Given the description of an element on the screen output the (x, y) to click on. 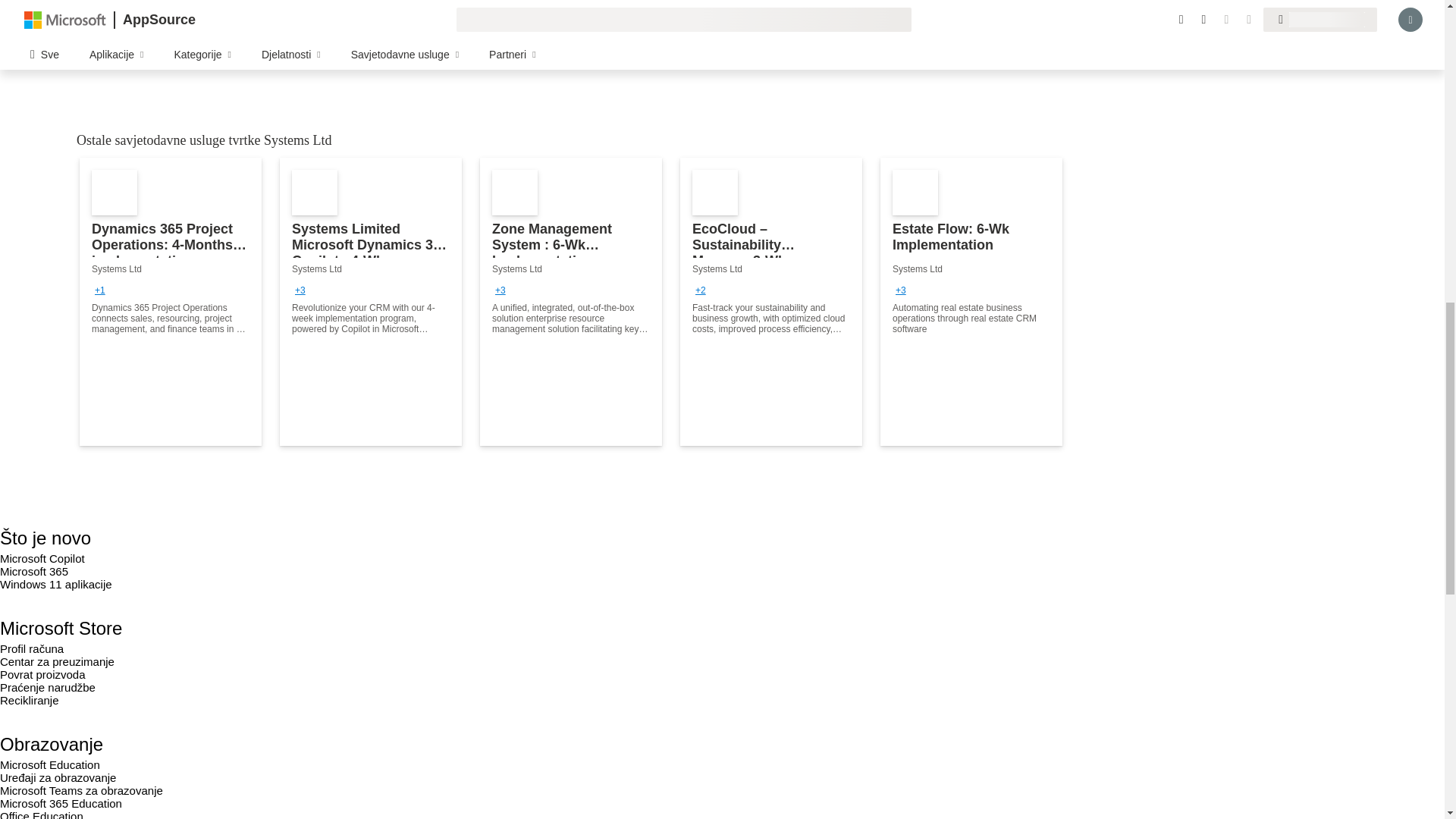
Centar za preuzimanje (57, 661)
Microsoft 365 (34, 571)
Microsoft 365 Education (61, 802)
Windows 11 aplikacije (56, 584)
Microsoft Teams za obrazovanje (81, 789)
Microsoft Copilot (42, 558)
Microsoft Education (50, 764)
Office Education (41, 814)
Povrat proizvoda (42, 674)
Recikliranje (29, 699)
